Given the description of an element on the screen output the (x, y) to click on. 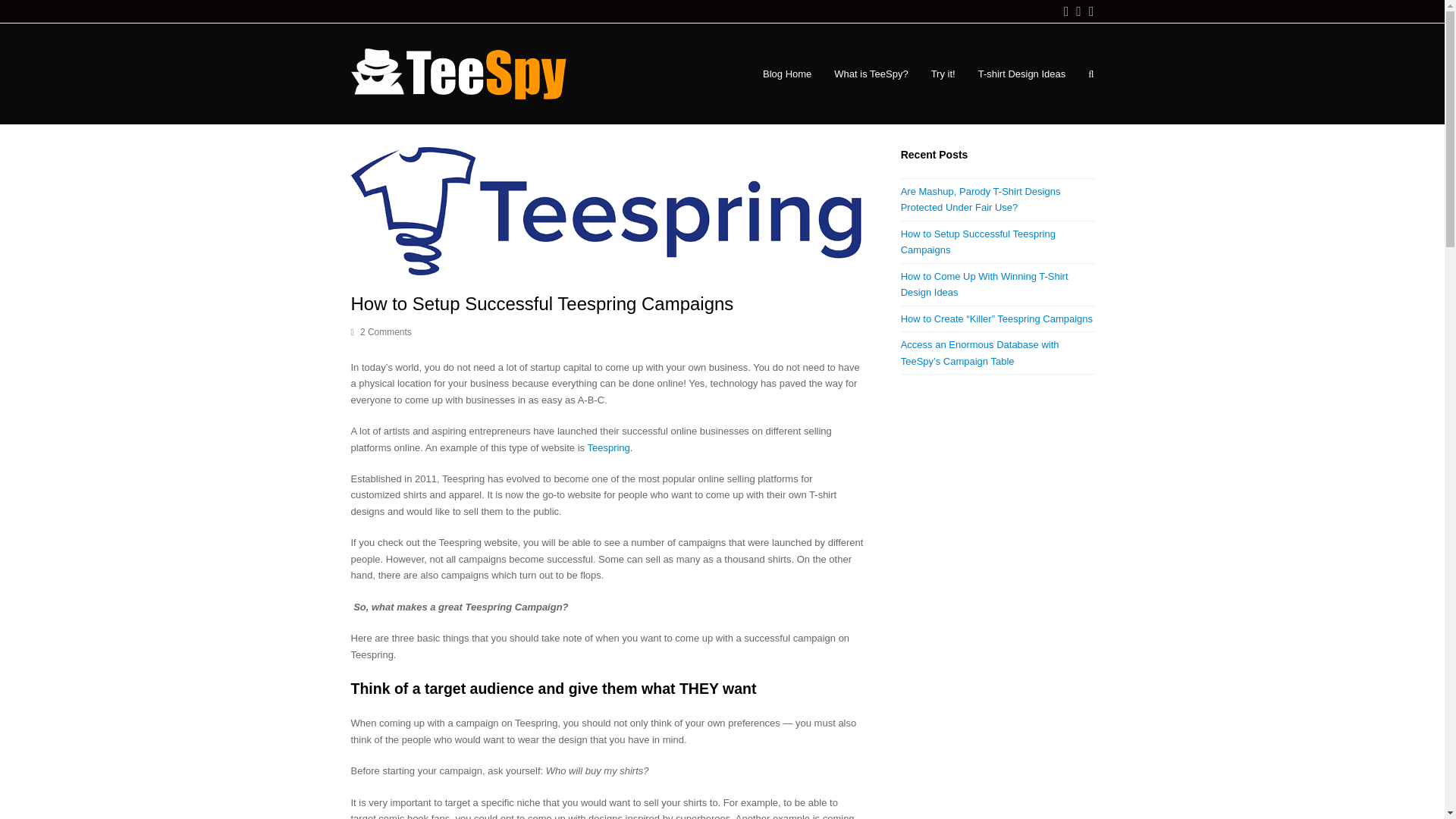
Teespring (607, 447)
Blog Home (786, 73)
2 Comments (385, 331)
How to Come Up With Winning T-Shirt Design Ideas (984, 284)
Try it! (943, 73)
2 Comments (380, 332)
T-shirt Design Ideas (1021, 73)
TeeSpy (464, 72)
Are Mashup, Parody T-Shirt Designs Protected Under Fair Use? (981, 198)
How to Setup Successful Teespring Campaigns (978, 241)
What is TeeSpy? (870, 73)
